Given the description of an element on the screen output the (x, y) to click on. 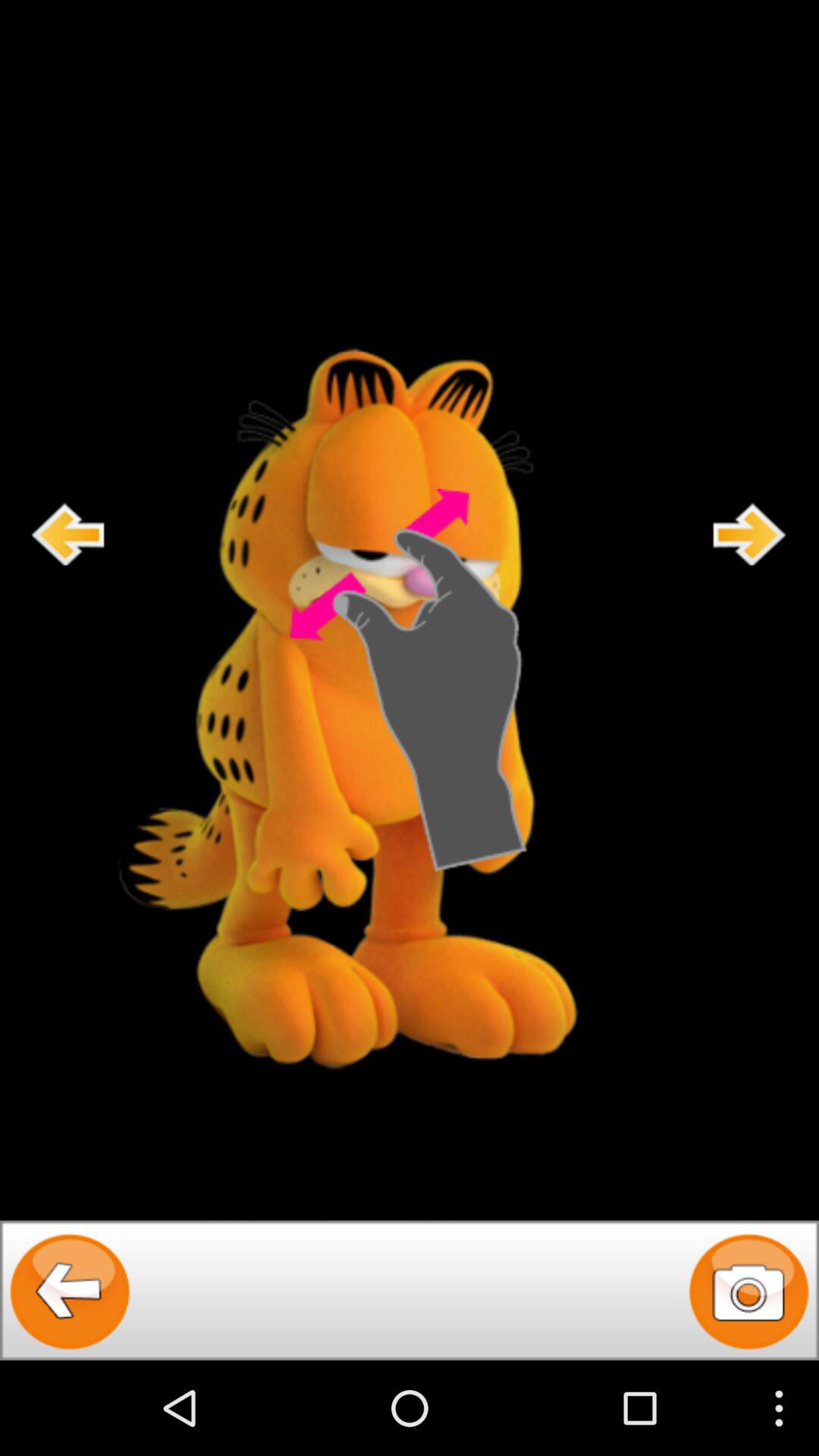
go to previous (68, 533)
